Given the description of an element on the screen output the (x, y) to click on. 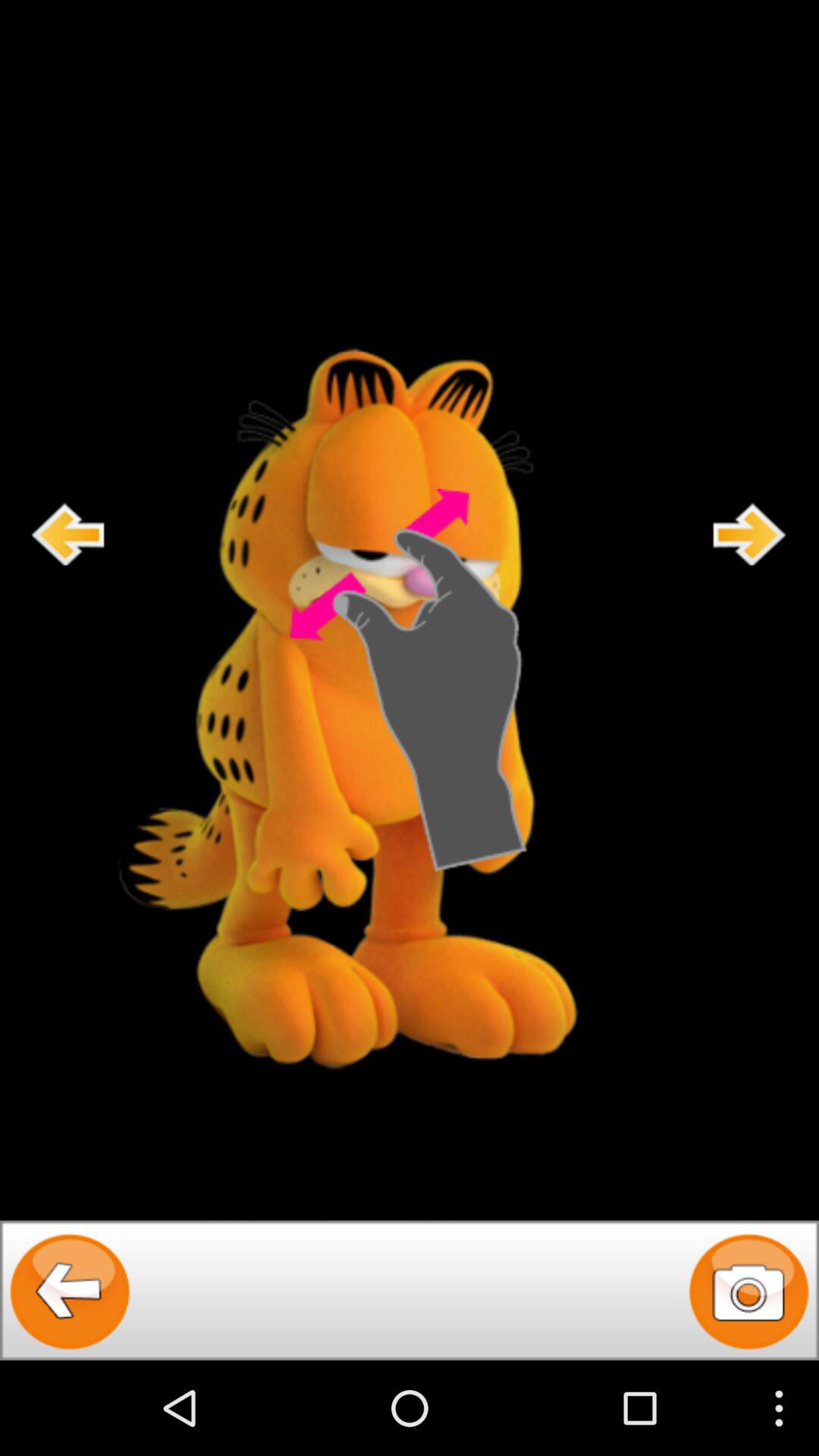
go to previous (68, 533)
